Given the description of an element on the screen output the (x, y) to click on. 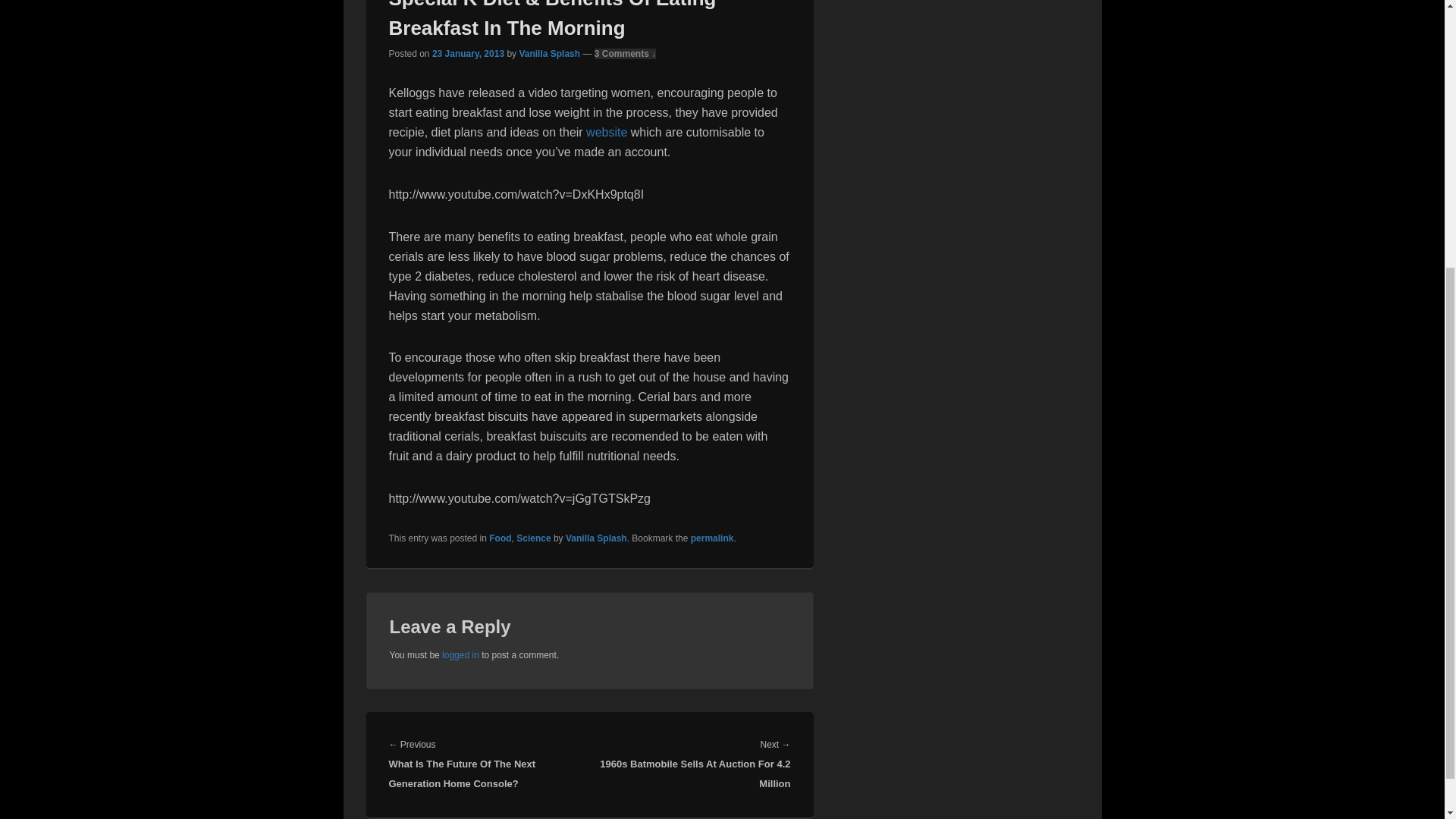
logged in (460, 655)
Food (500, 538)
9:24 pm (467, 53)
Science (533, 538)
23 January, 2013 (467, 53)
Vanilla Splash (548, 53)
website (606, 132)
View all posts by Vanilla Splash (548, 53)
Vanilla Splash (596, 538)
permalink (711, 538)
